Given the description of an element on the screen output the (x, y) to click on. 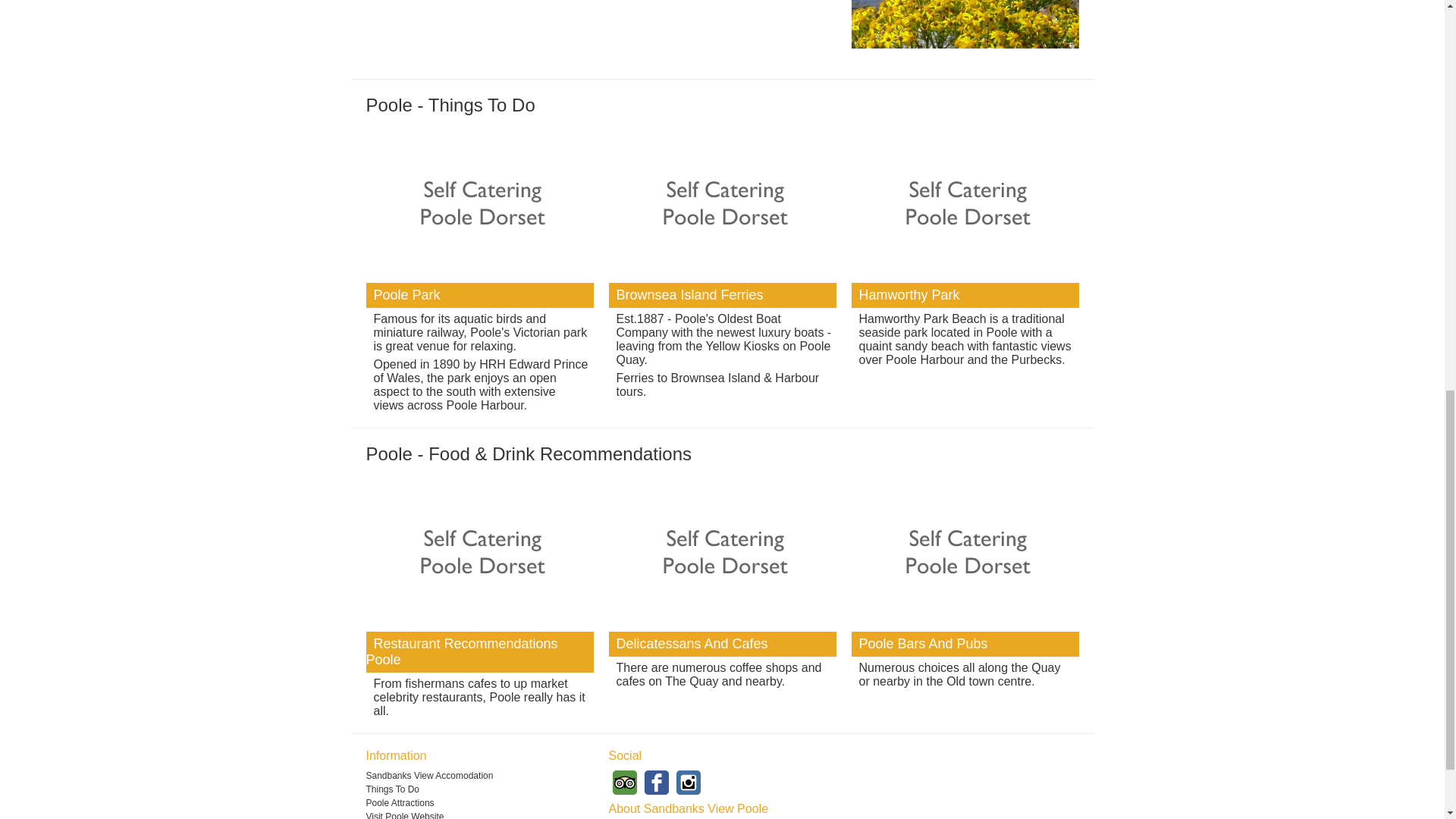
delicatessans and cafes (721, 555)
poole park (478, 206)
hamworthy park (964, 206)
Sandbanks View Accomodation (478, 775)
brownsea island ferries (721, 206)
Poole Attractions (478, 802)
Visit Poole Website (478, 815)
Things To Do (478, 788)
Poole Bars and Pubs (964, 555)
Restaurant Recommendations Poole (478, 555)
